Given the description of an element on the screen output the (x, y) to click on. 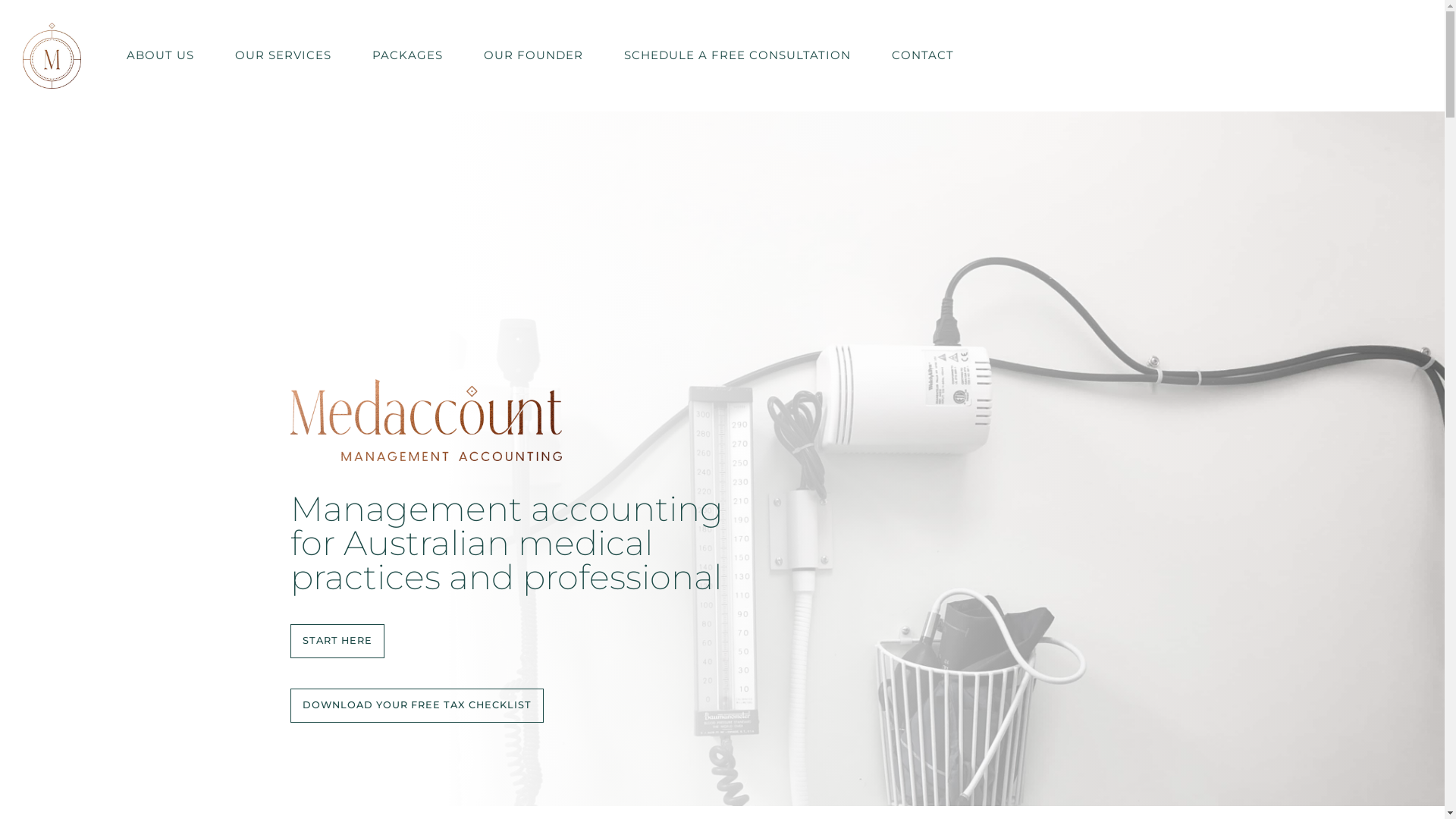
OUR FOUNDER Element type: text (533, 54)
DOWNLOAD YOUR FREE TAX CHECKLIST Element type: text (415, 705)
PACKAGES Element type: text (407, 54)
CONTACT Element type: text (922, 54)
ABOUT US Element type: text (160, 54)
OUR SERVICES Element type: text (282, 54)
SCHEDULE A FREE CONSULTATION Element type: text (737, 54)
START HERE Element type: text (336, 641)
